Given the description of an element on the screen output the (x, y) to click on. 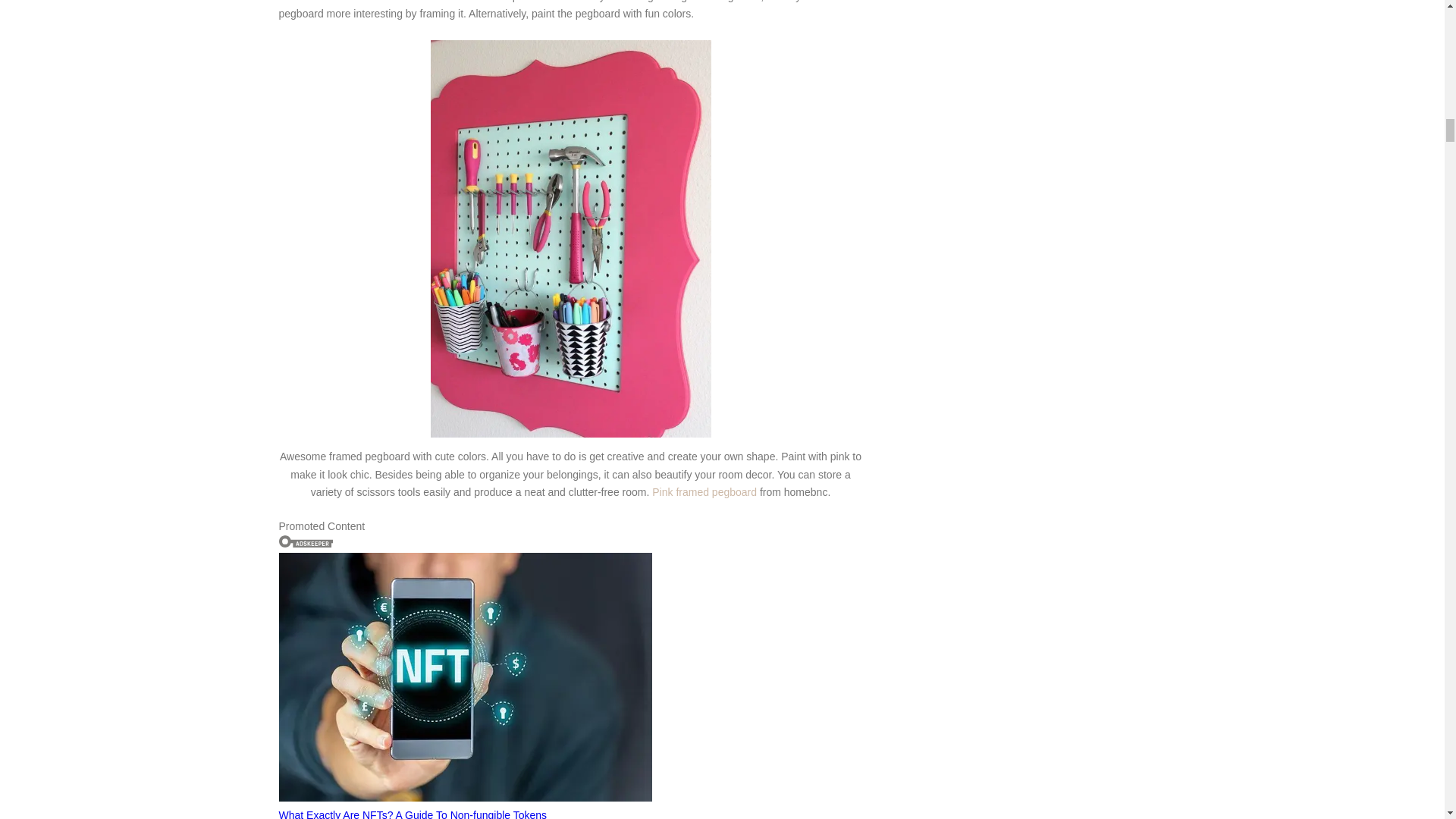
Pink framed pegboard (706, 491)
